Given the description of an element on the screen output the (x, y) to click on. 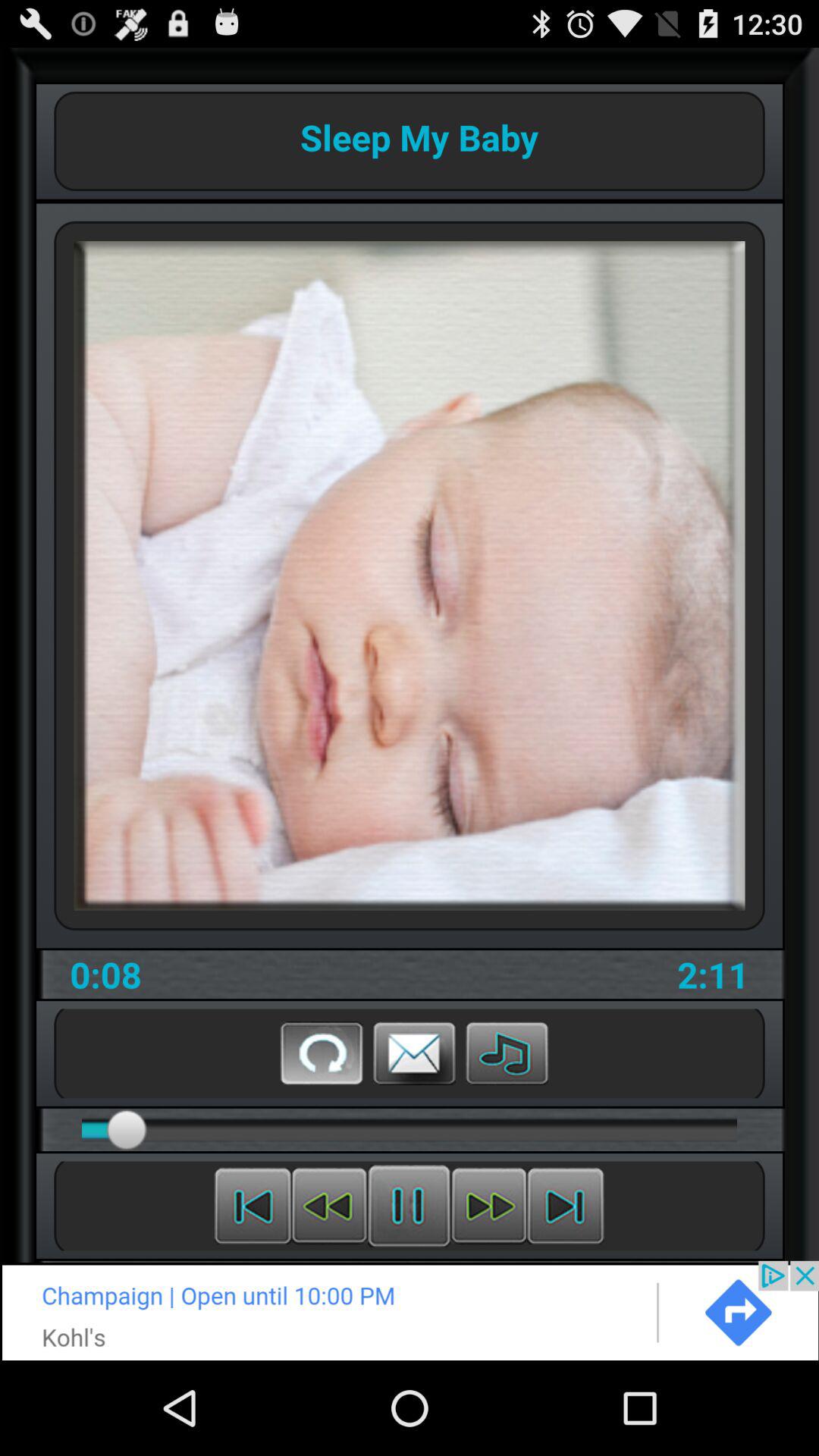
go to next option (409, 1310)
